Given the description of an element on the screen output the (x, y) to click on. 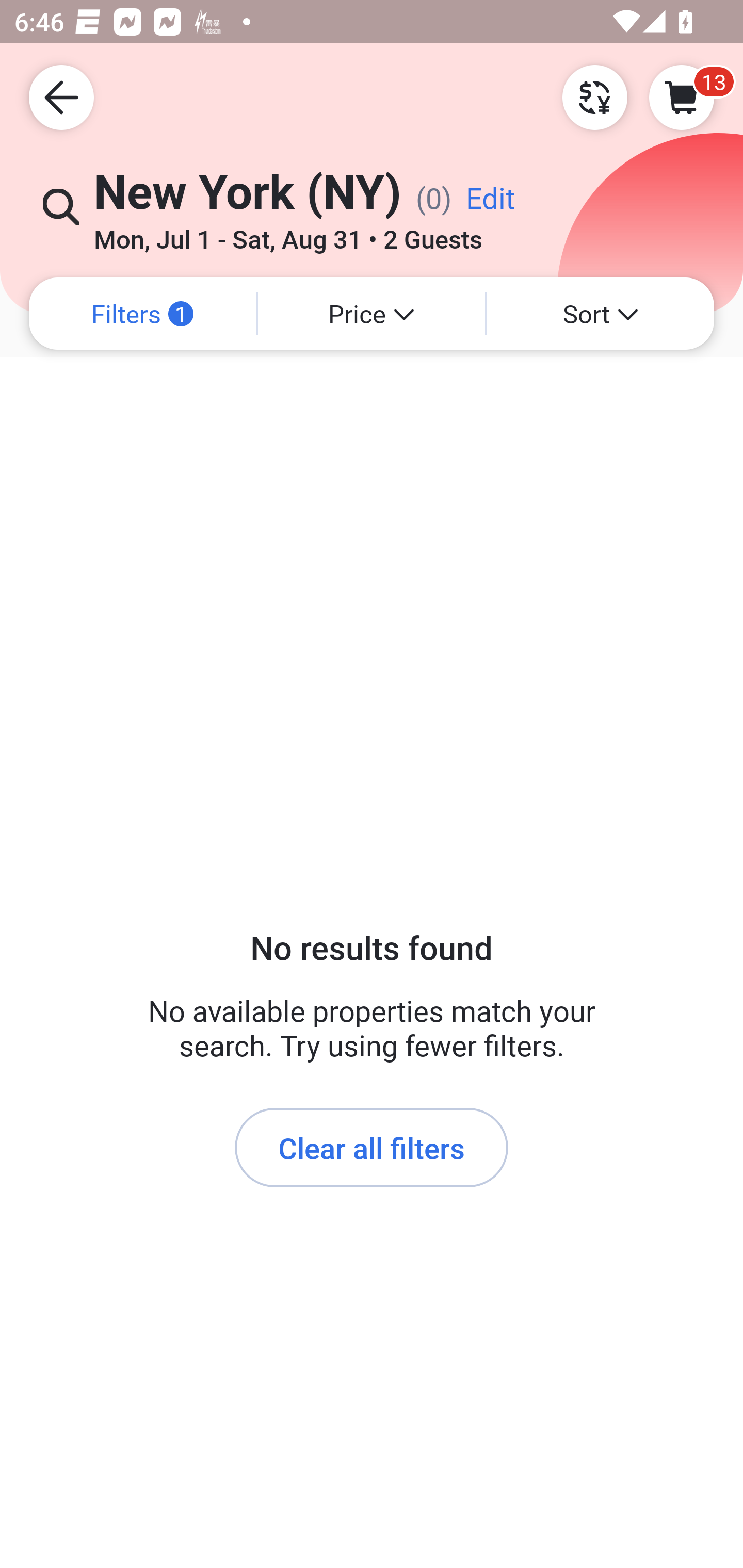
Filters 1 (141, 313)
Price (371, 313)
Sort (600, 313)
Clear all filters (371, 1147)
